Given the description of an element on the screen output the (x, y) to click on. 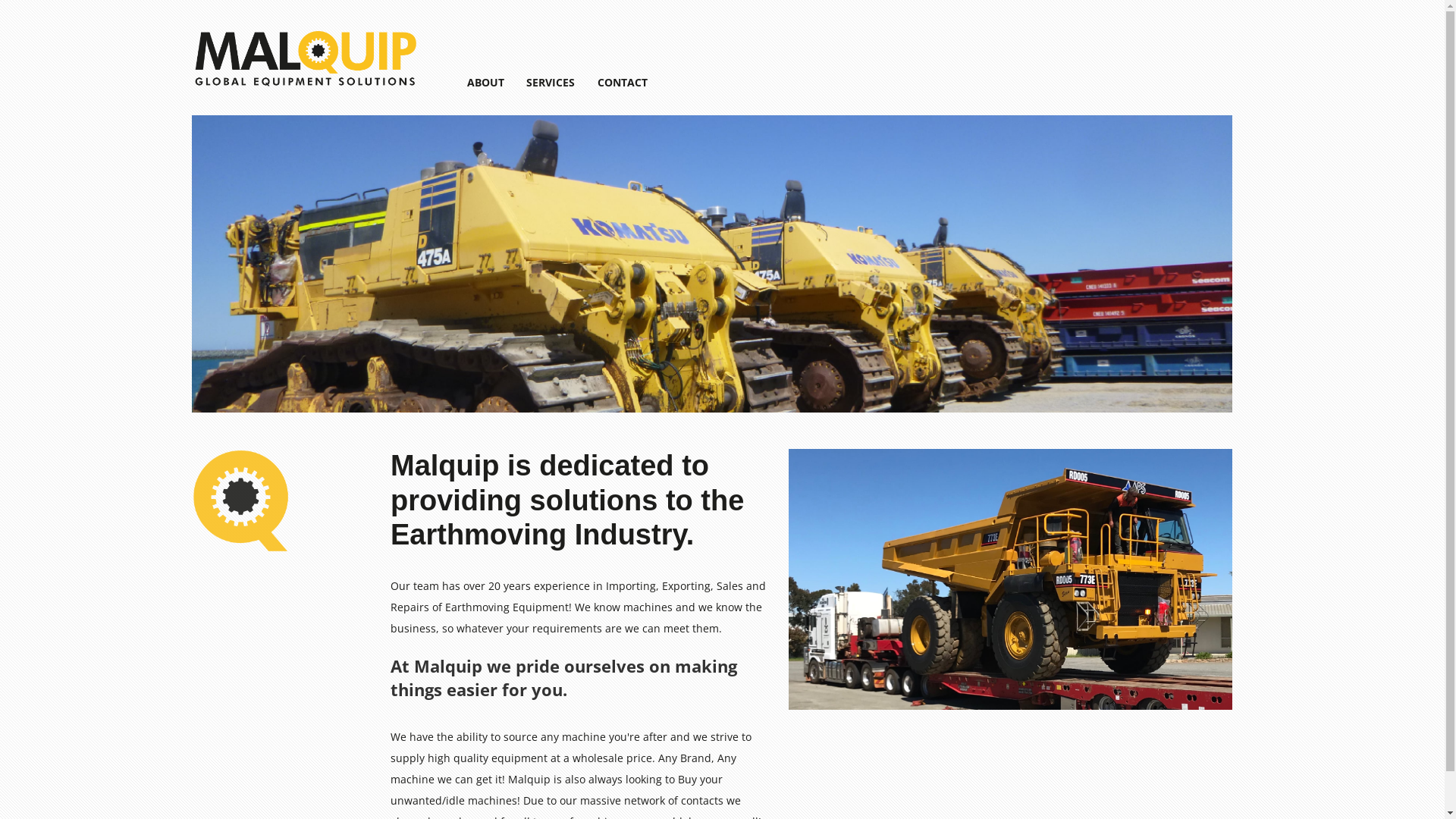
MalQuip Earth Moving Equipment Element type: hover (304, 87)
SERVICES Element type: text (550, 82)
ABOUT Element type: text (485, 82)
CONTACT Element type: text (622, 82)
